Given the description of an element on the screen output the (x, y) to click on. 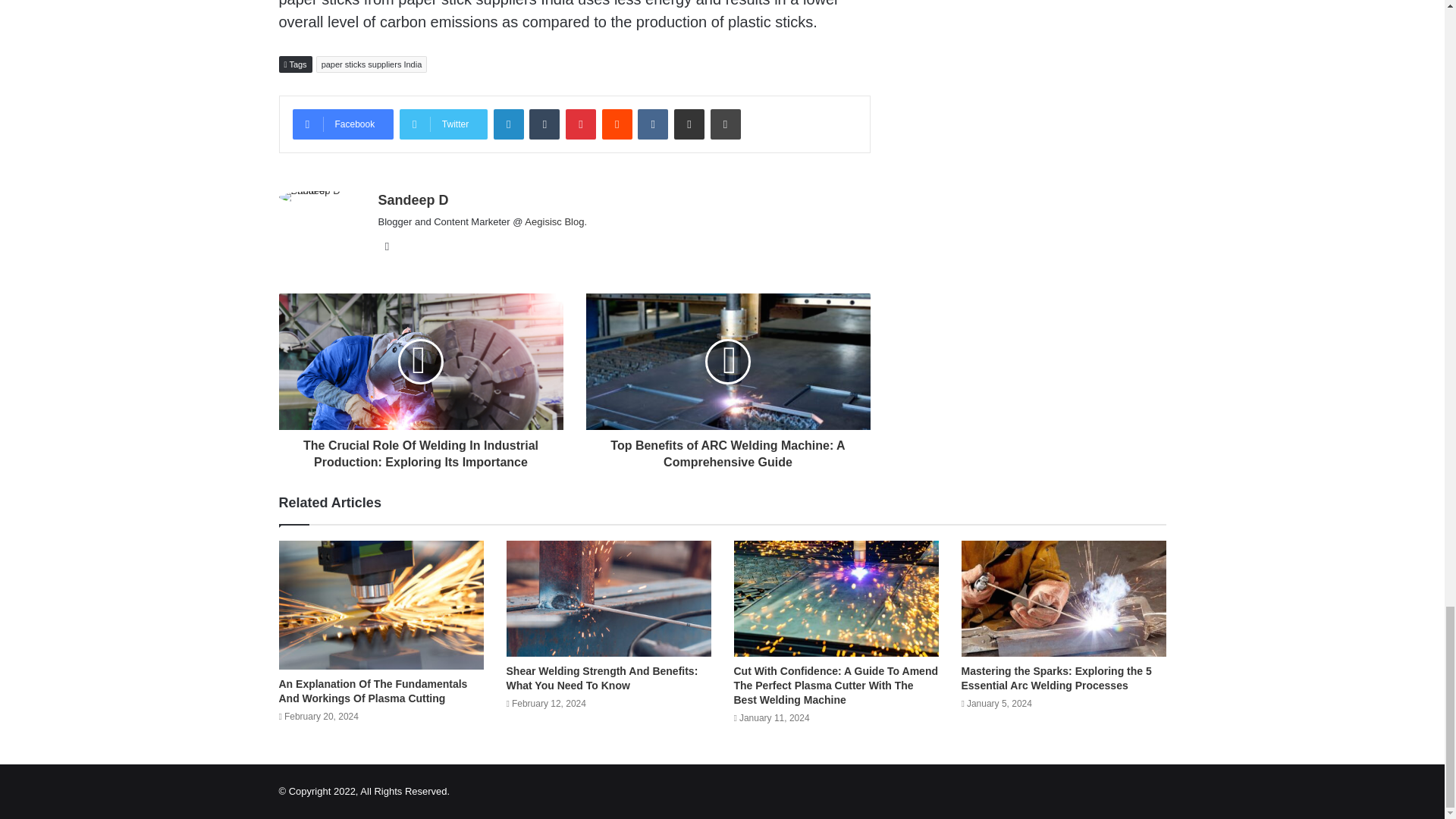
paper sticks suppliers India (371, 64)
